Given the description of an element on the screen output the (x, y) to click on. 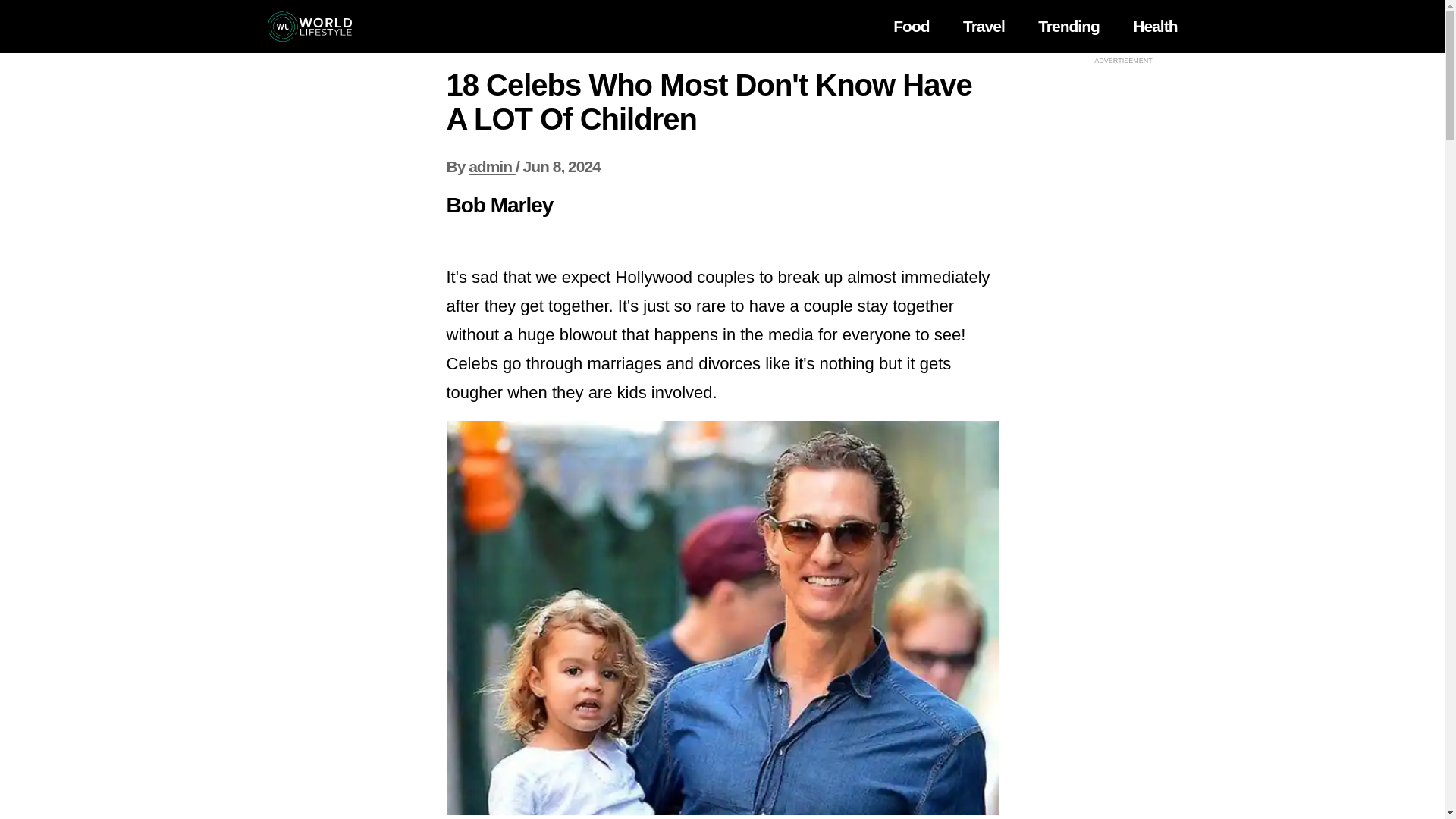
admin (491, 166)
Trending (1068, 26)
Health (1154, 26)
Travel (983, 26)
Food (910, 26)
